Given the description of an element on the screen output the (x, y) to click on. 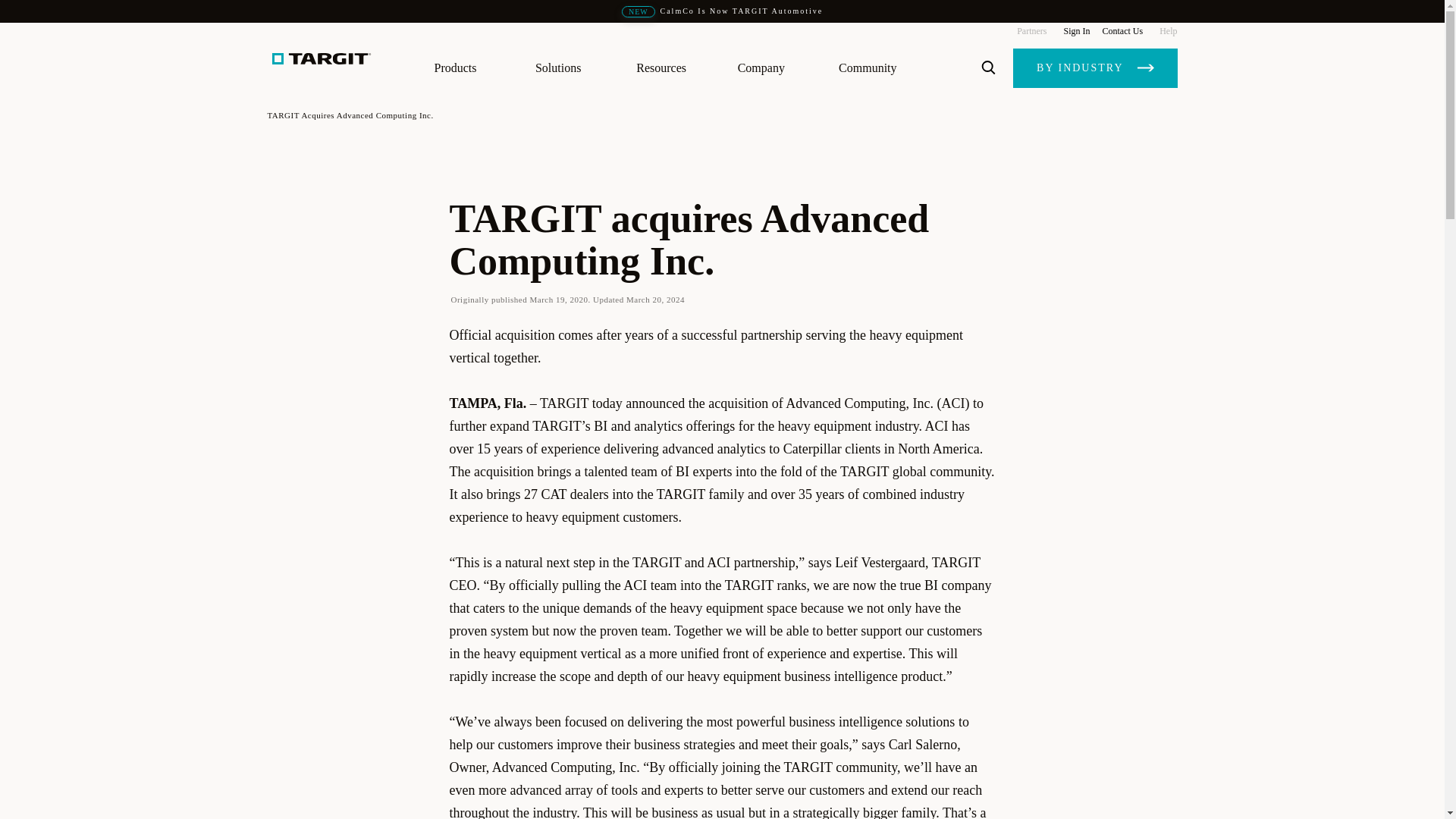
Sign In (1075, 30)
Contact Us (1122, 30)
Help (1165, 30)
Partners (1031, 30)
